Given the description of an element on the screen output the (x, y) to click on. 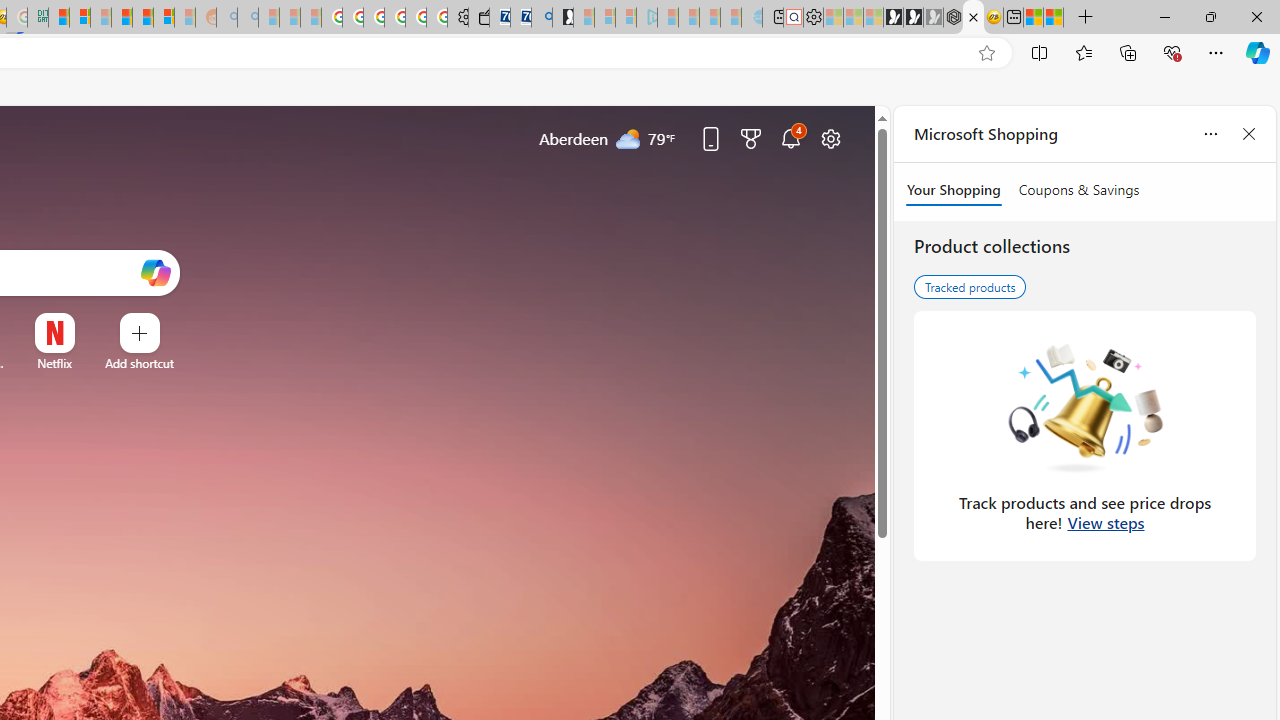
Wallet (478, 17)
